Given the description of an element on the screen output the (x, y) to click on. 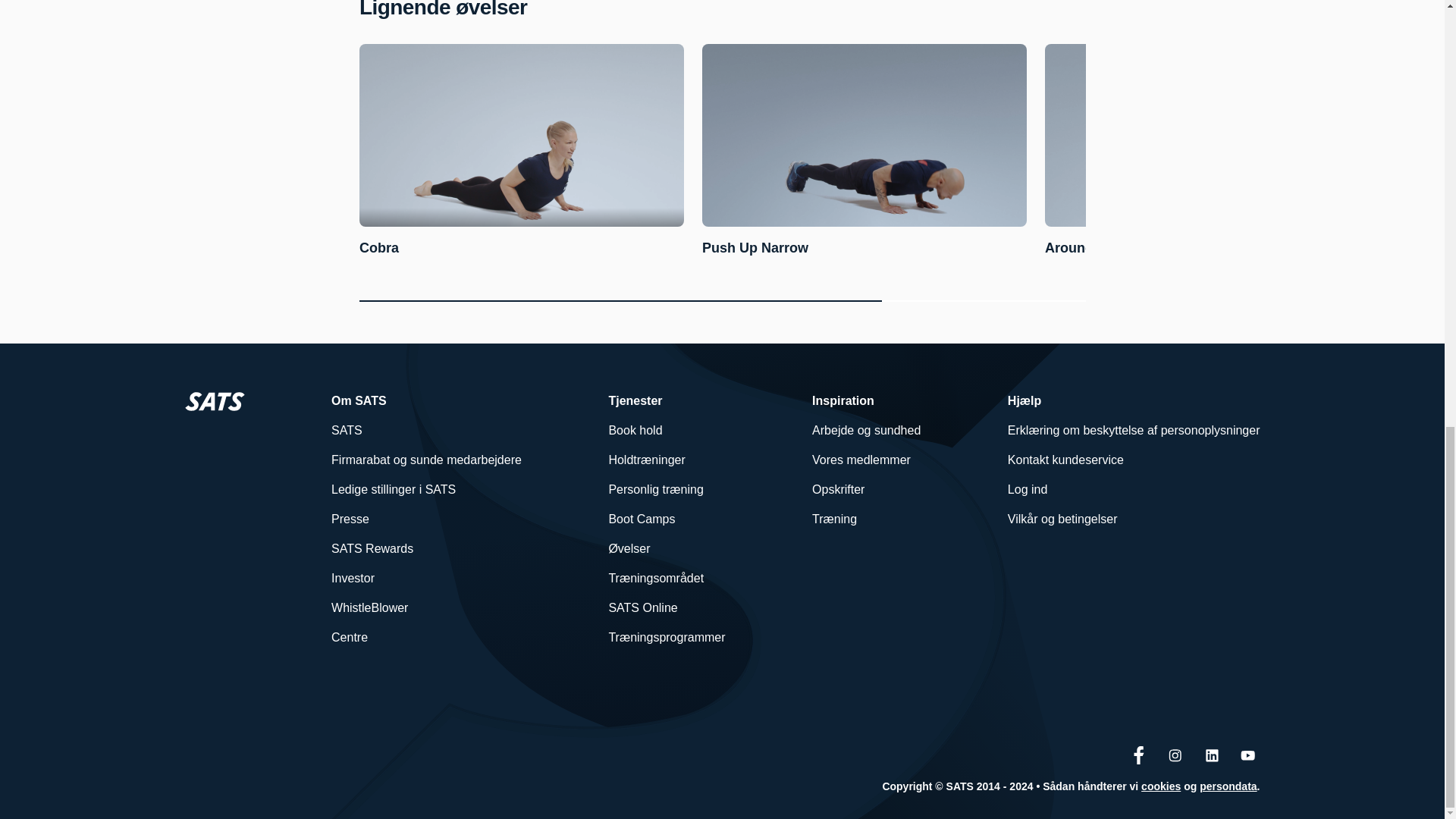
linkedIn (1211, 754)
instagram (1175, 754)
facebook (1138, 754)
youTube (1248, 754)
